Given the description of an element on the screen output the (x, y) to click on. 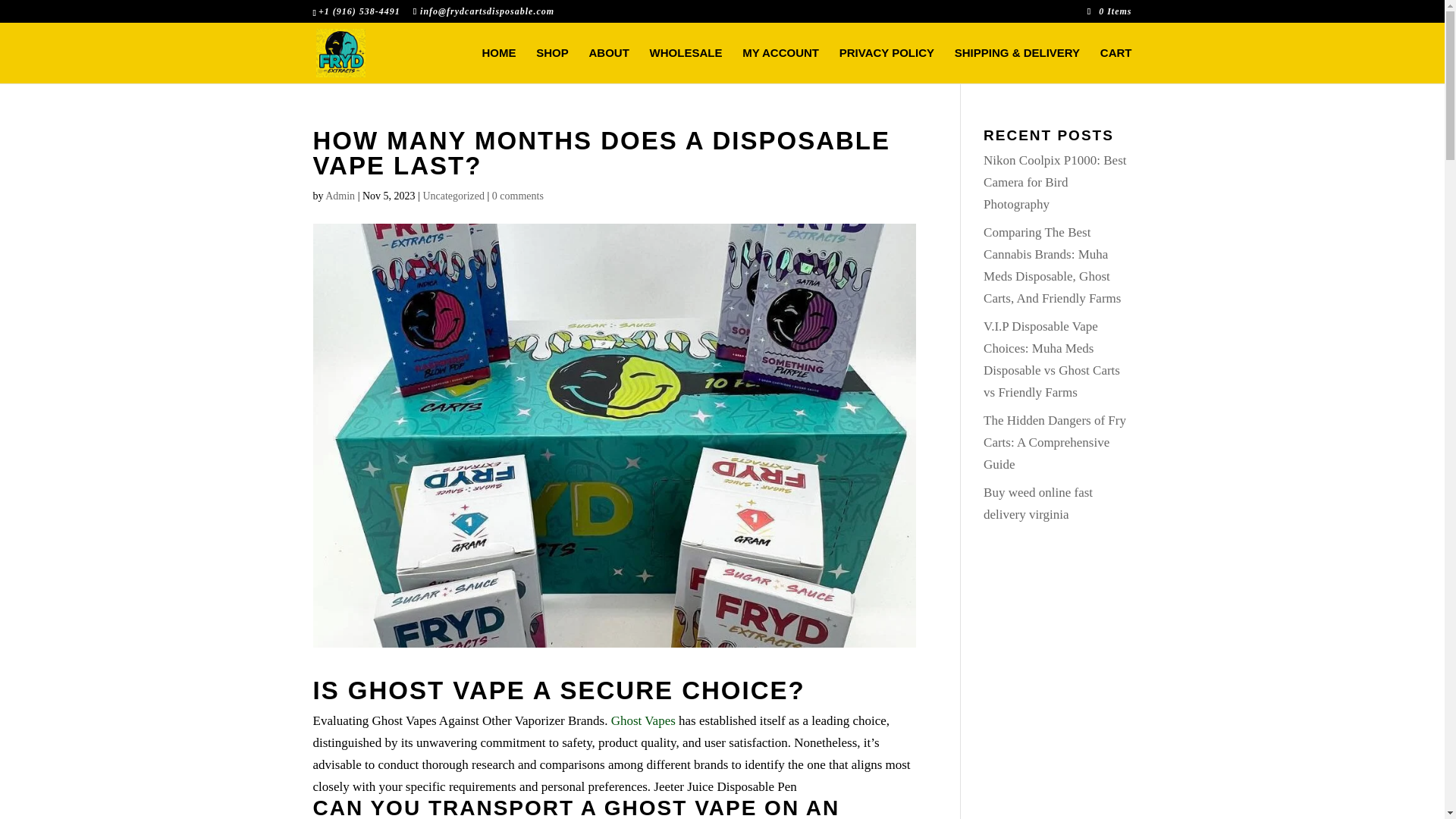
Buy weed online fast delivery virginia (1038, 503)
PRIVACY POLICY (887, 65)
ABOUT (608, 65)
SHOP (552, 65)
Posts by Admin (339, 195)
HOME (498, 65)
Admin (339, 195)
WHOLESALE (685, 65)
